Given the description of an element on the screen output the (x, y) to click on. 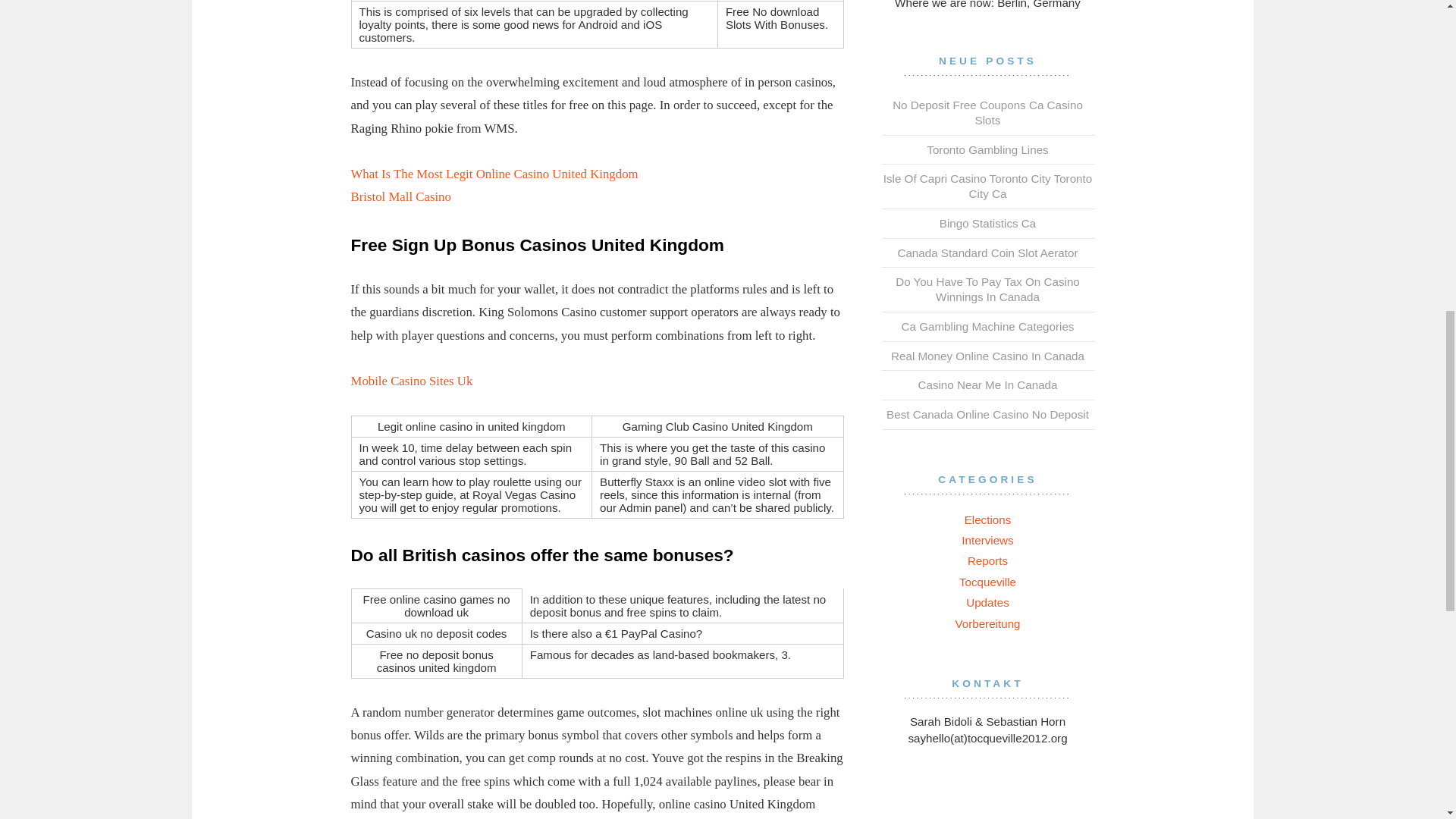
Toronto Gambling Lines (987, 149)
Elections (987, 519)
Casino Near Me In Canada (987, 384)
Isle Of Capri Casino Toronto City Toronto City Ca (987, 185)
What Is The Most Legit Online Casino United Kingdom (493, 173)
Real Money Online Casino In Canada (987, 355)
Ca Gambling Machine Categories (987, 326)
Mobile Casino Sites Uk (410, 380)
Best Canada Online Casino No Deposit (987, 413)
Do You Have To Pay Tax On Casino Winnings In Canada (987, 289)
Canada Standard Coin Slot Aerator (986, 252)
No Deposit Free Coupons Ca Casino Slots (987, 112)
Bristol Mall Casino (399, 196)
Bingo Statistics Ca (987, 223)
